Given the description of an element on the screen output the (x, y) to click on. 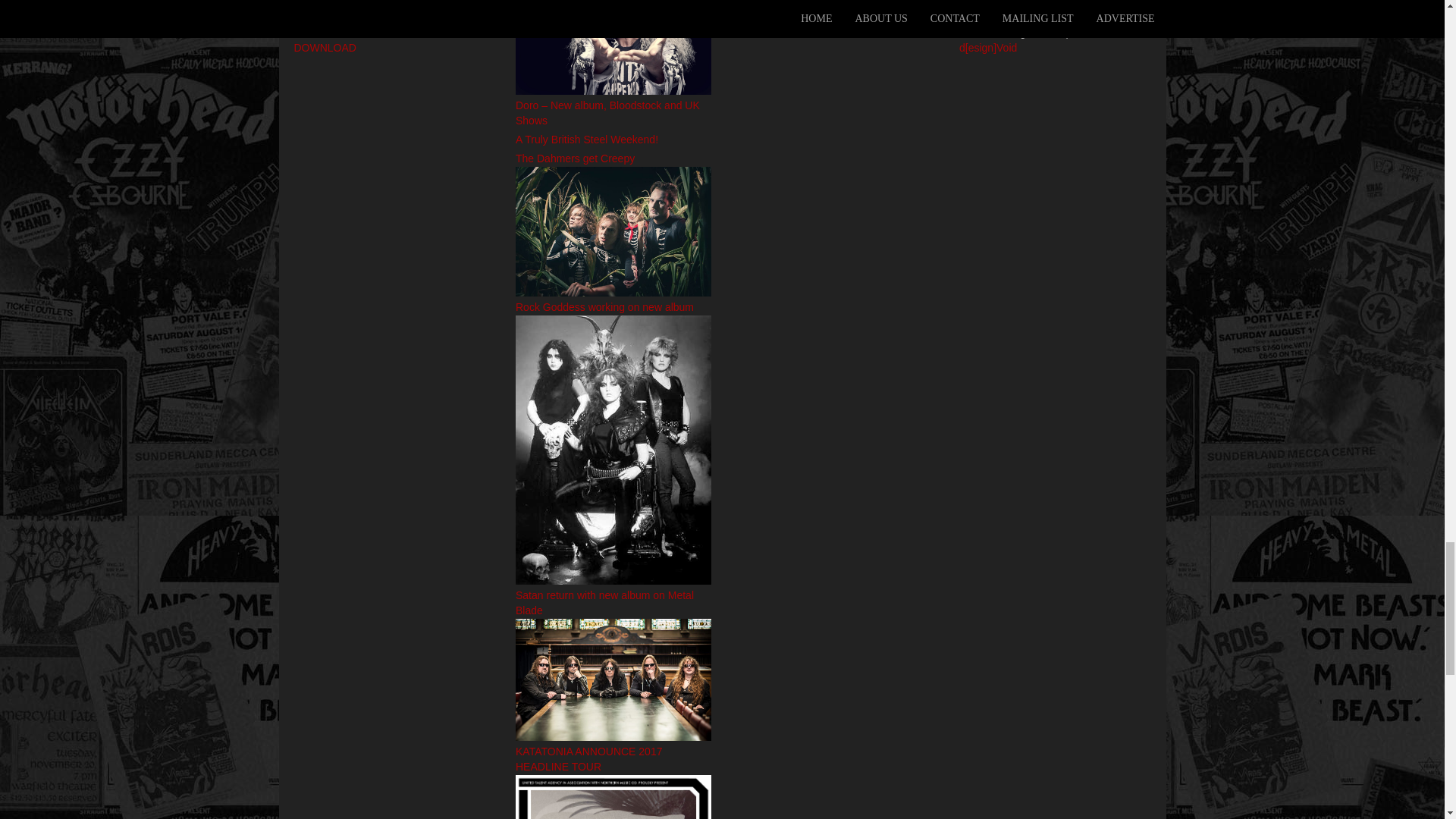
Satan return with new album on Metal Blade (613, 680)
The Dahmers get Creepy (613, 231)
